Given the description of an element on the screen output the (x, y) to click on. 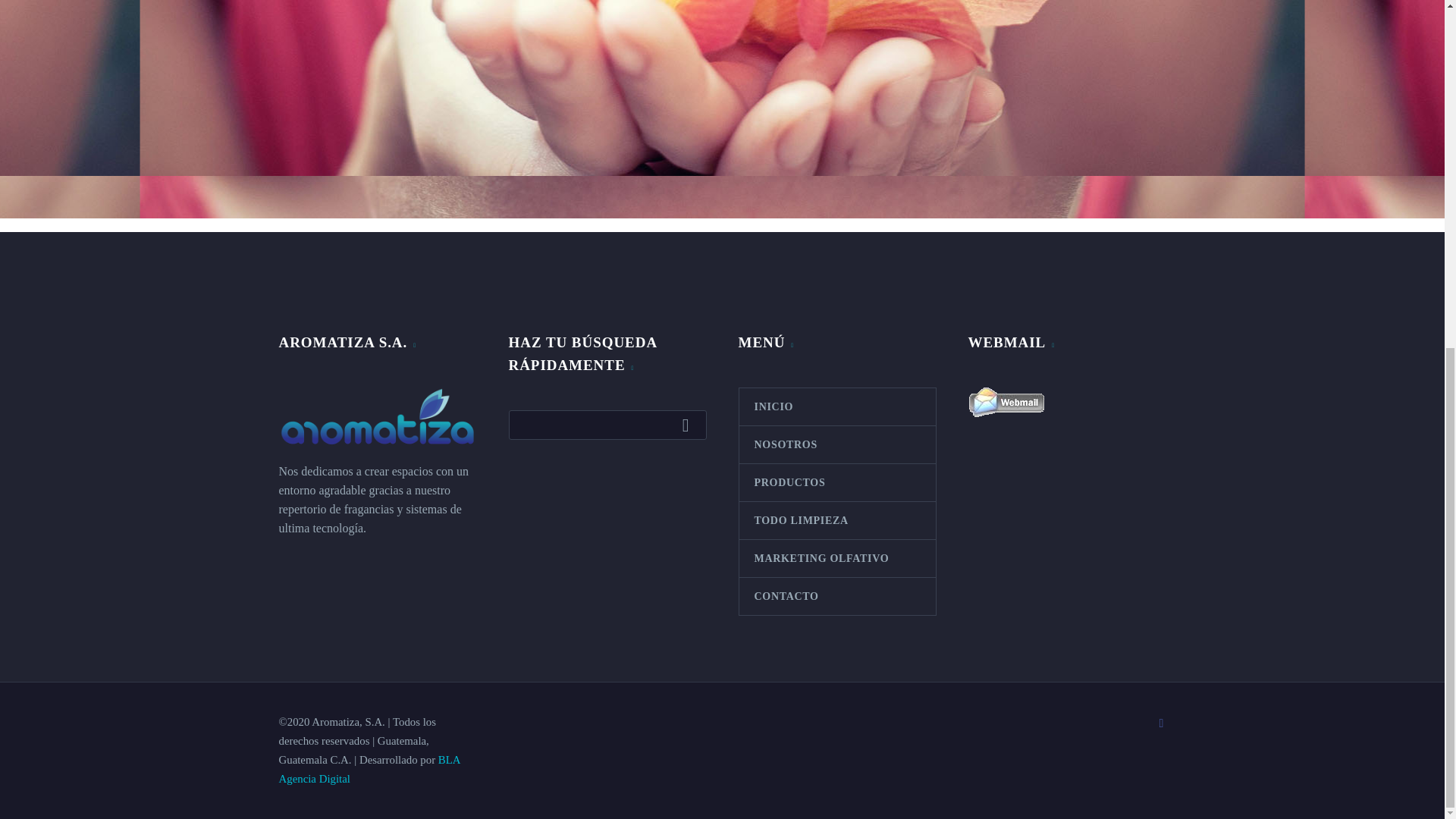
BUSCAR (689, 424)
BLA Agencia Digital (369, 768)
NOSOTROS (836, 444)
PRODUCTOS (836, 482)
TODO LIMPIEZA (836, 520)
Facebook (1161, 723)
MARKETING OLFATIVO (836, 558)
CONTACTO (836, 596)
INICIO (836, 406)
